Given the description of an element on the screen output the (x, y) to click on. 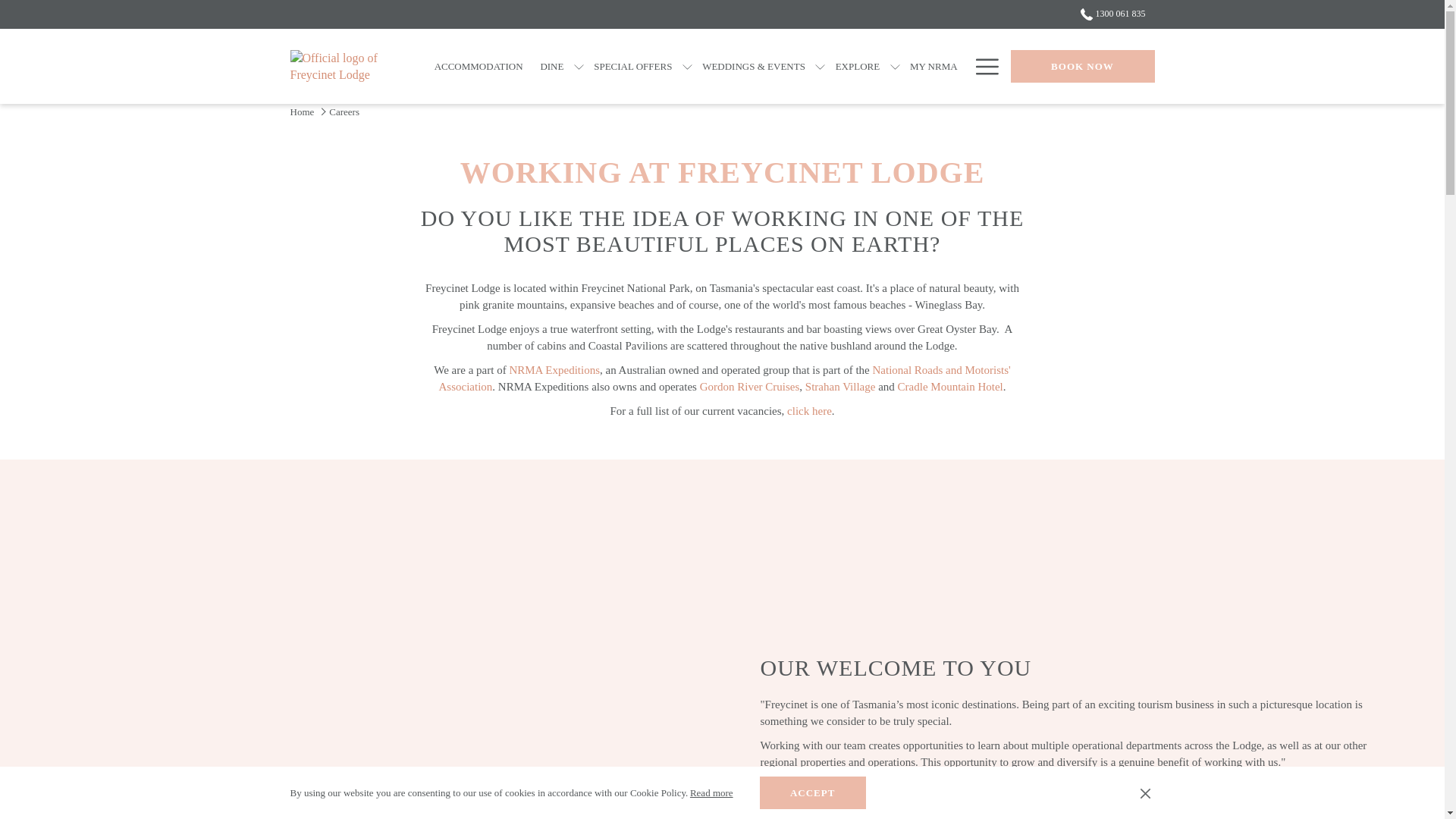
ACCEPT (813, 792)
1300 061 835 (1107, 13)
ACCOMMODATION (478, 66)
Back to the homepage (346, 66)
SPECIAL OFFERS (633, 66)
Menu (986, 66)
EXPLORE (857, 66)
